Given the description of an element on the screen output the (x, y) to click on. 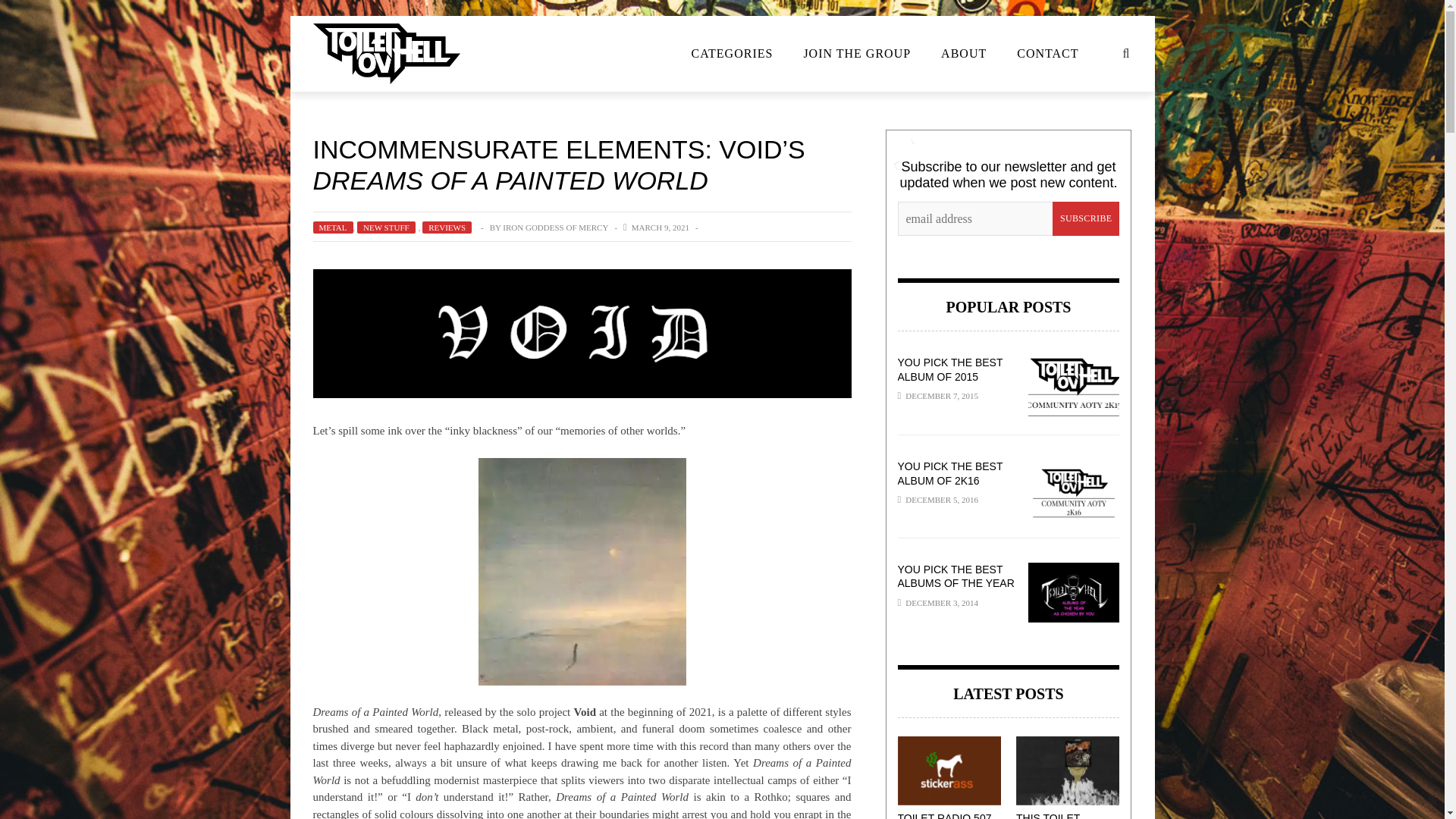
CATEGORIES (733, 52)
Subscribe (1085, 218)
